Given the description of an element on the screen output the (x, y) to click on. 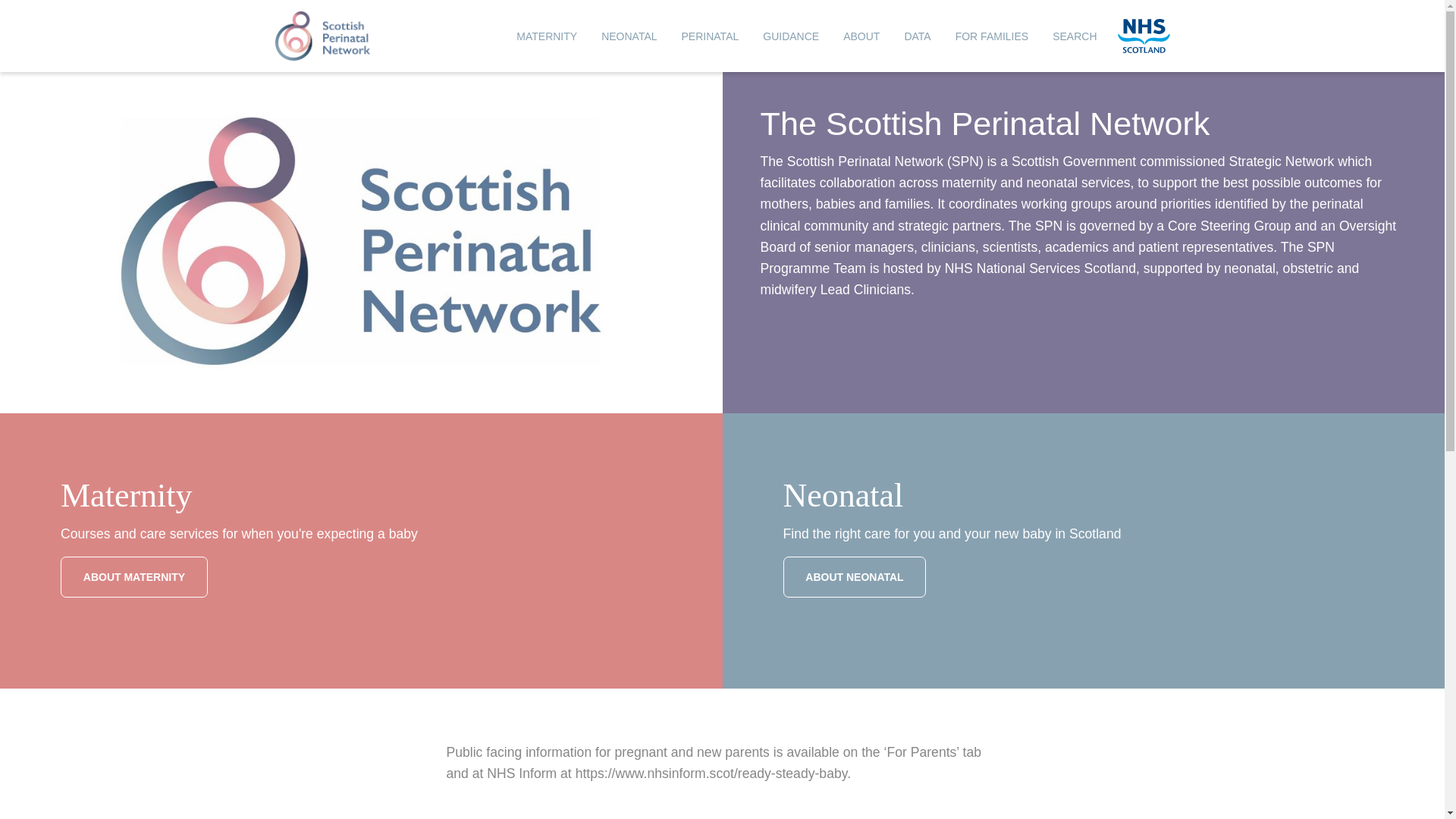
FOR FAMILIES (991, 36)
SEARCH (1074, 36)
GUIDANCE (791, 36)
MATERNITY (546, 36)
ABOUT NEONATAL (854, 576)
PERINATAL (710, 36)
NEONATAL (628, 36)
ABOUT (860, 36)
ABOUT MATERNITY (134, 576)
DATA (916, 36)
